Given the description of an element on the screen output the (x, y) to click on. 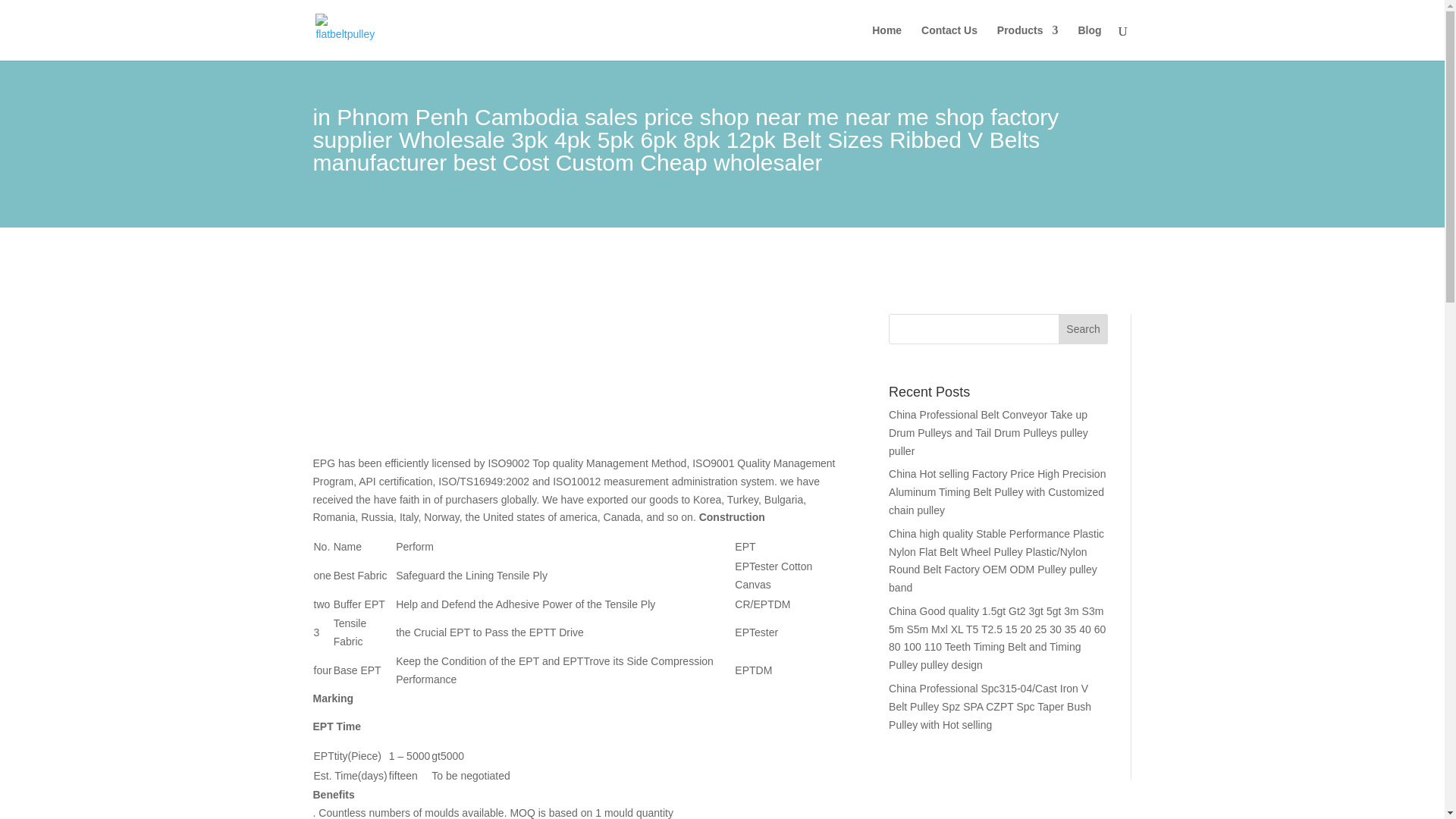
Contact Us (948, 42)
Search (1083, 328)
Products (1027, 42)
Search (1083, 328)
